Given the description of an element on the screen output the (x, y) to click on. 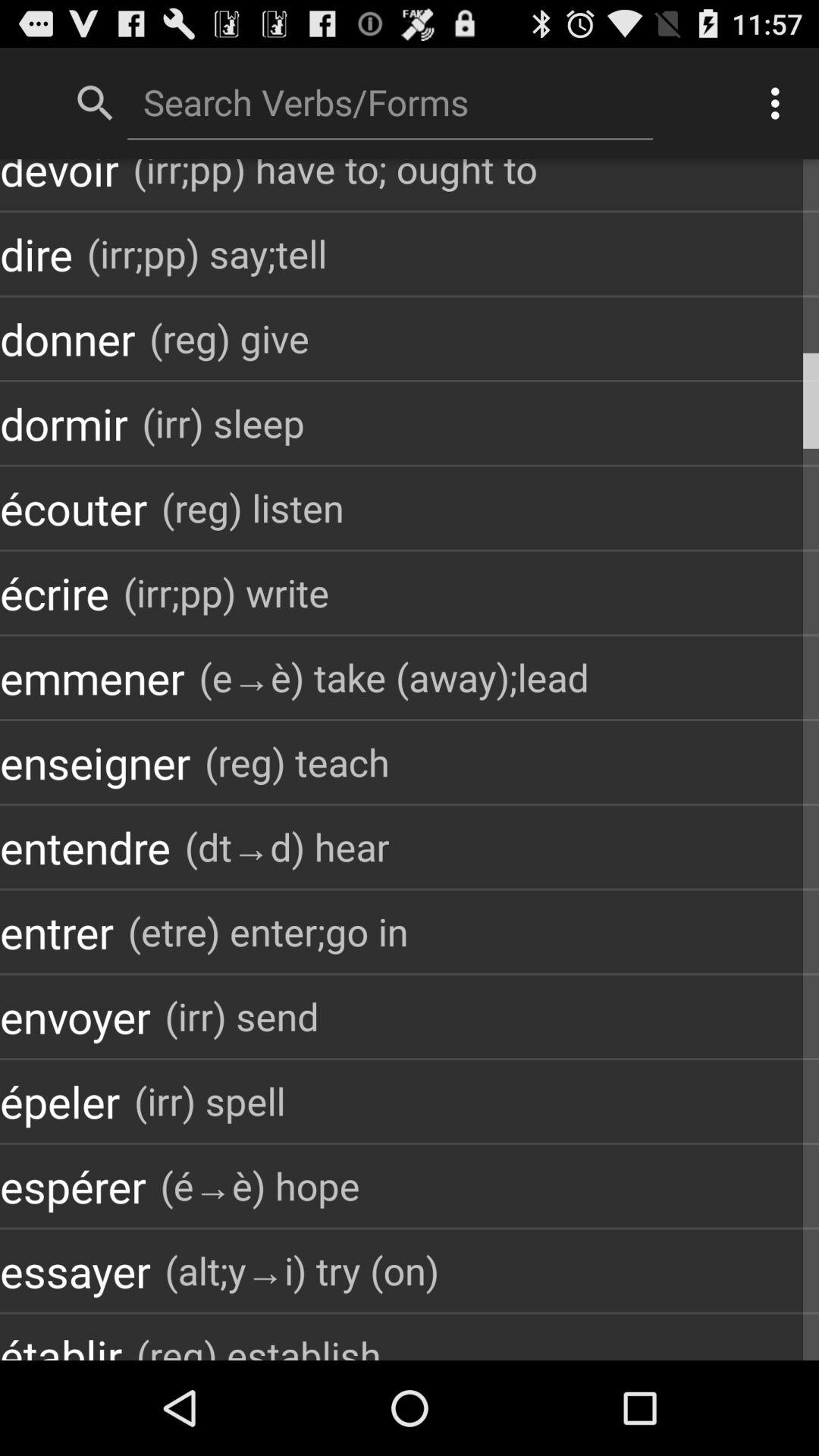
click icon to the left of (reg) teach icon (95, 762)
